Given the description of an element on the screen output the (x, y) to click on. 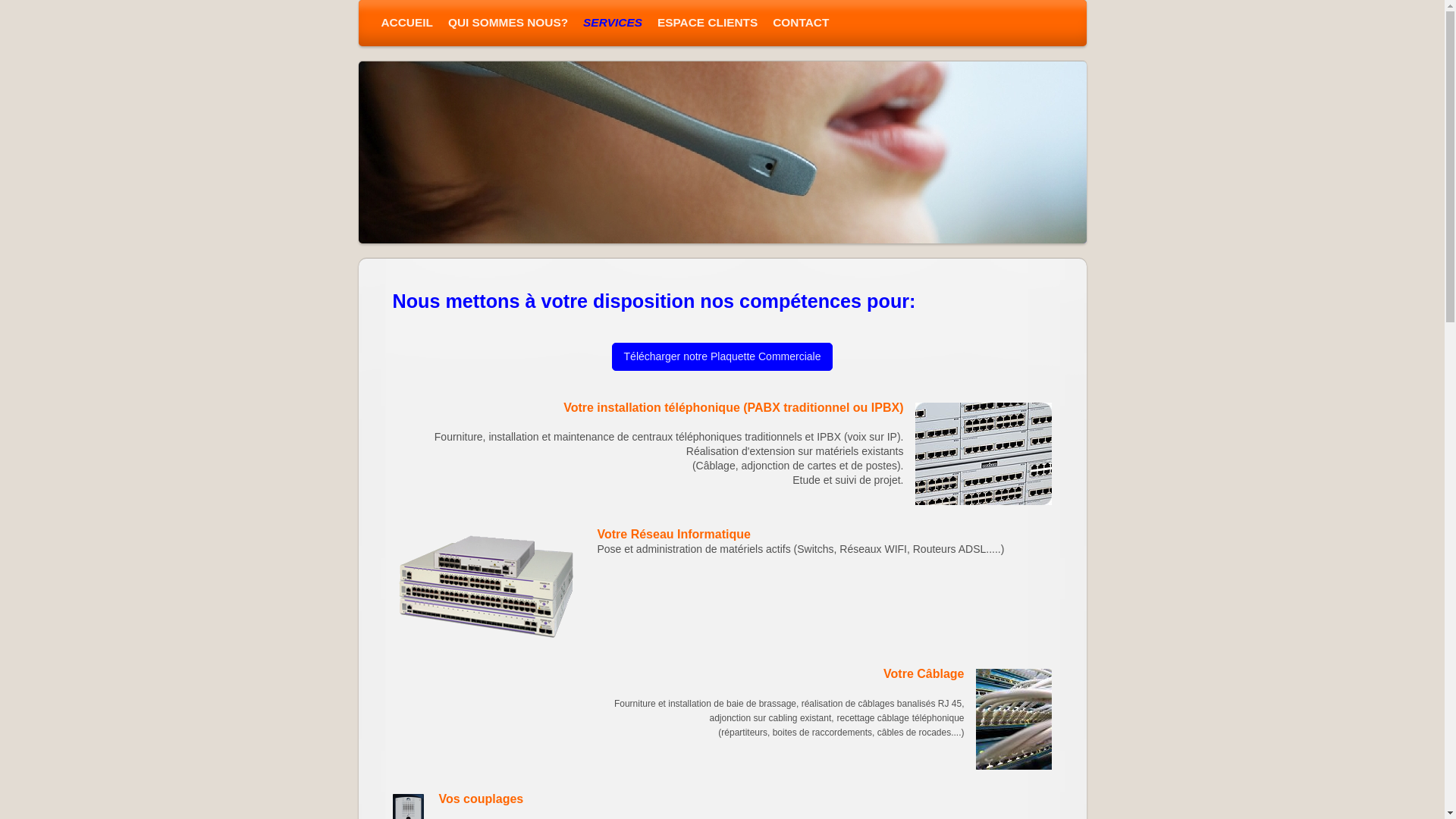
ESPACE CLIENTS Element type: text (707, 23)
CONTACT Element type: text (800, 23)
SERVICES Element type: text (612, 23)
QUI SOMMES NOUS? Element type: text (507, 23)
ACCUEIL Element type: text (406, 23)
